Given the description of an element on the screen output the (x, y) to click on. 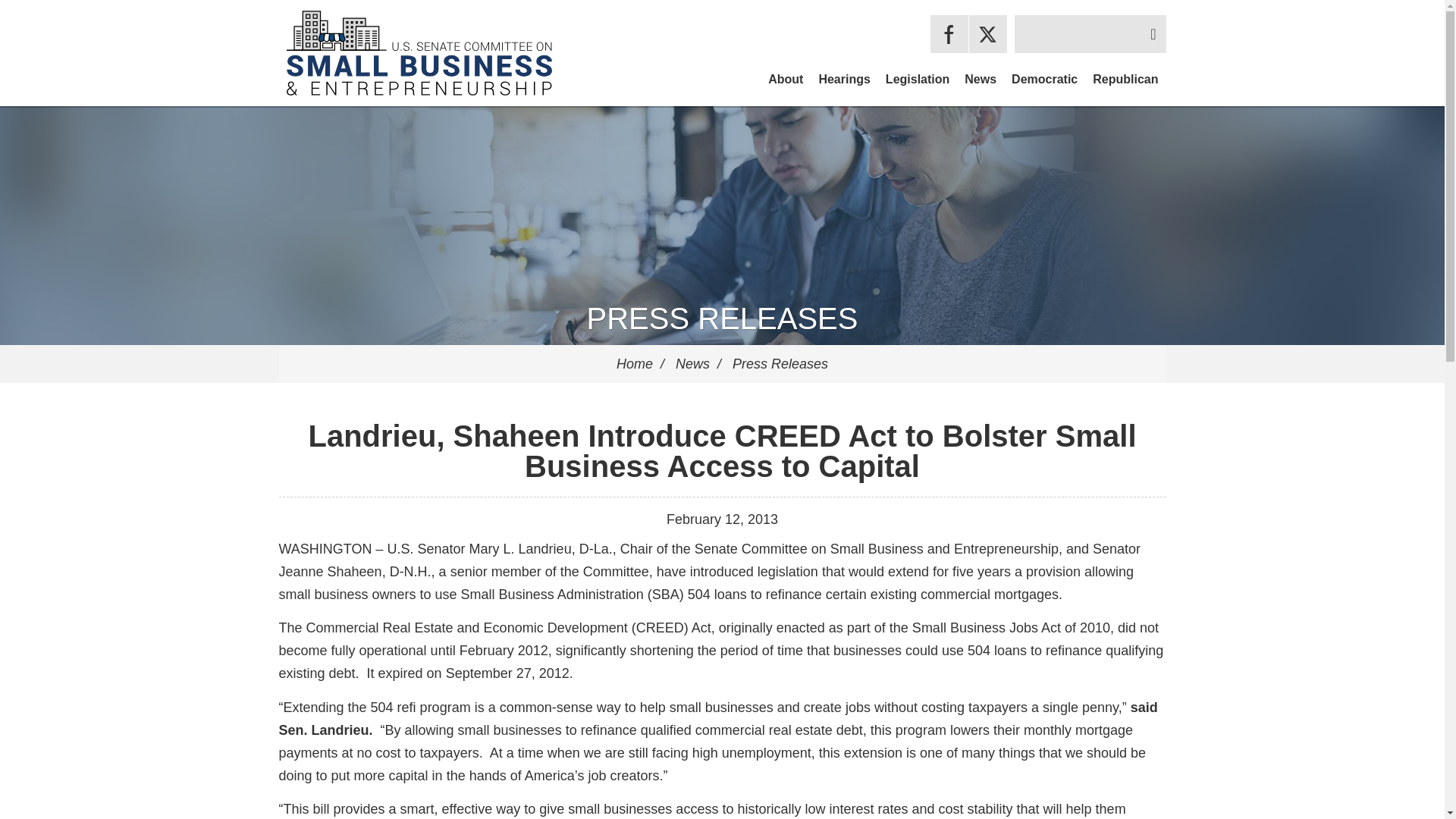
PRESS RELEASES (722, 318)
Republican (1125, 79)
Democratic (1044, 79)
Legislation (916, 79)
Twitter (988, 34)
About (785, 79)
News (980, 79)
Hearings (843, 79)
Facebook (949, 34)
Home (633, 363)
